Given the description of an element on the screen output the (x, y) to click on. 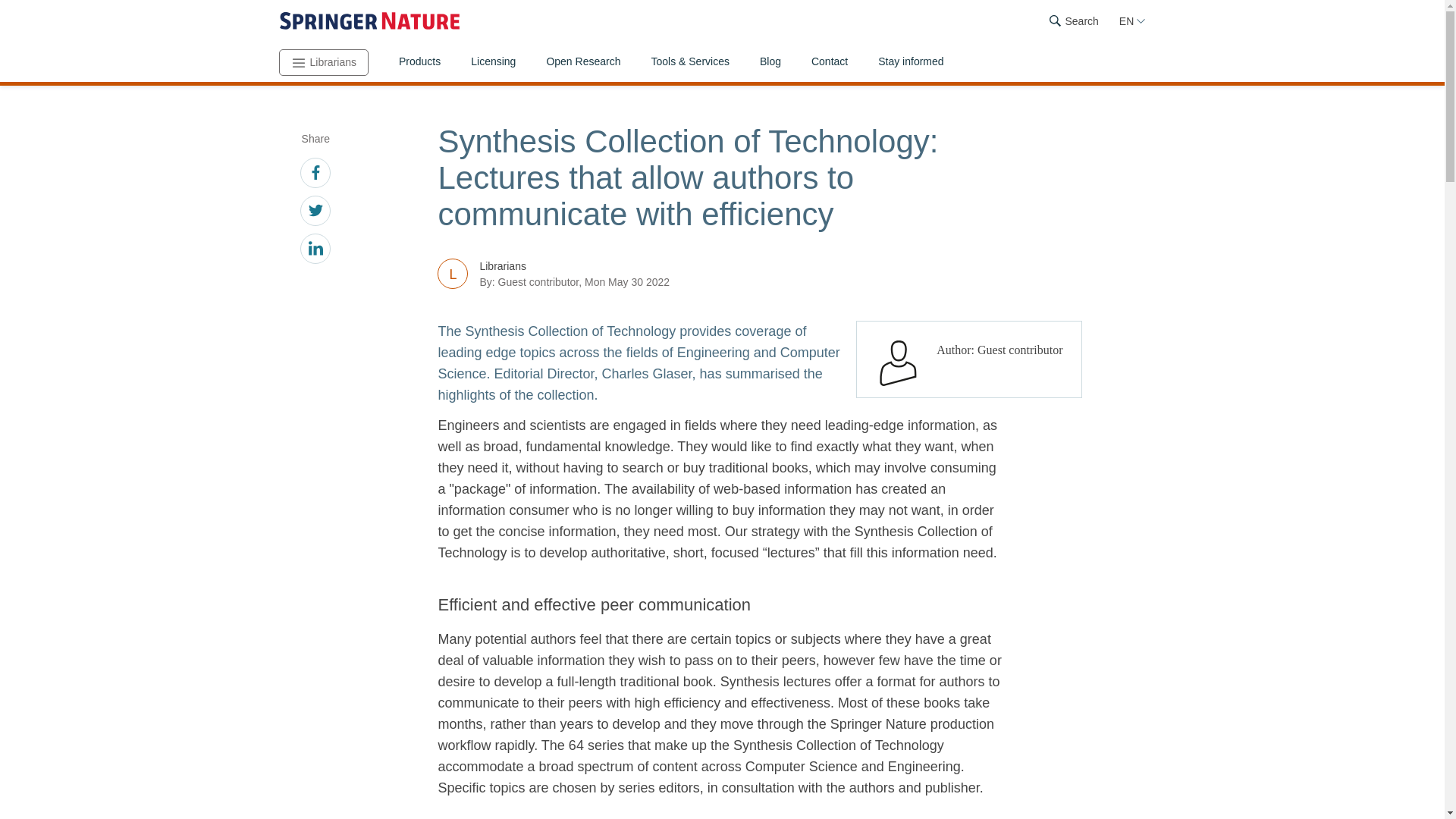
Librarians (323, 62)
Products (419, 62)
linkedin (315, 250)
twitter (315, 212)
facebook (315, 174)
Springer Nature (369, 20)
